Given the description of an element on the screen output the (x, y) to click on. 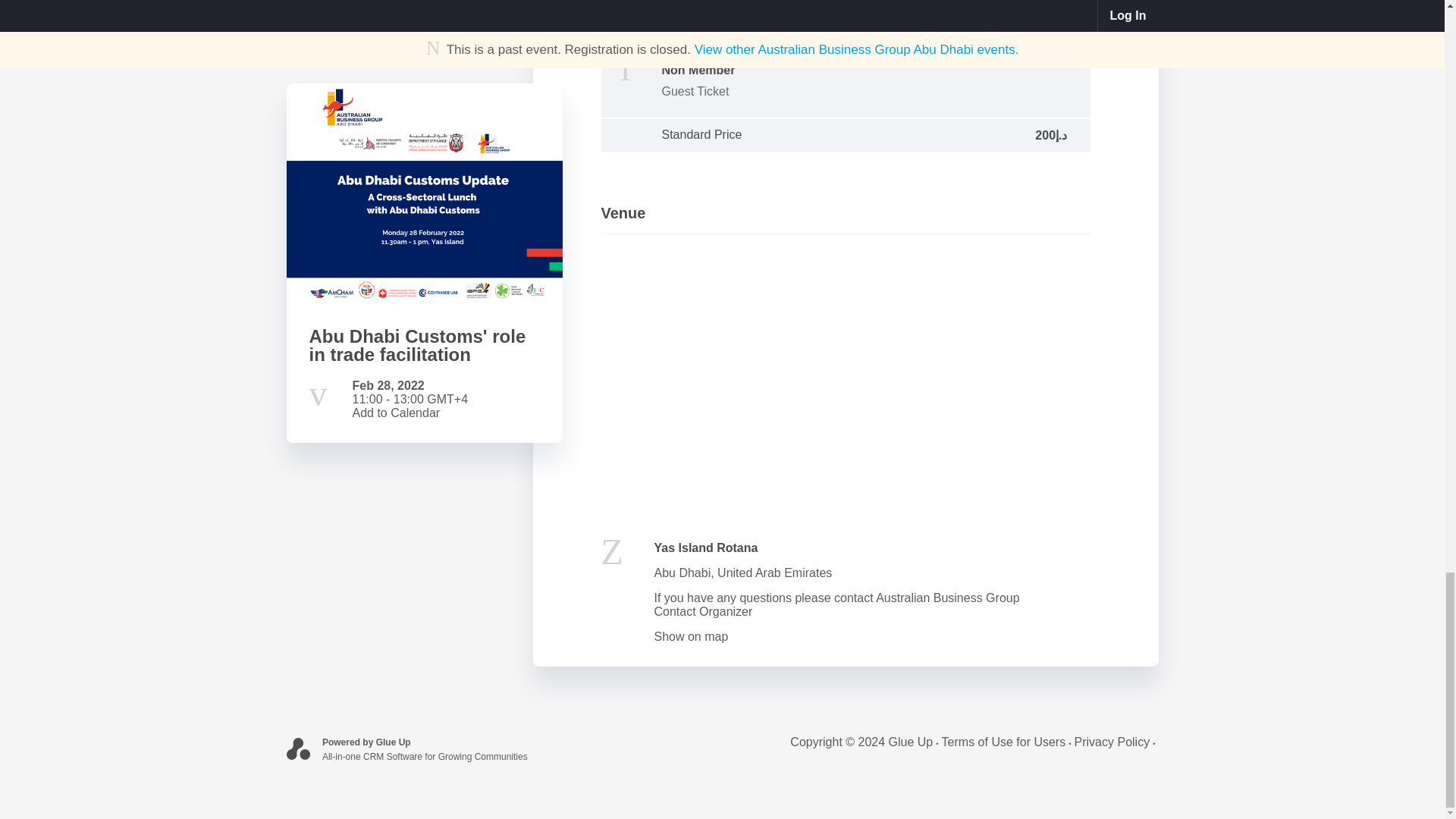
Show on map (690, 635)
Contact Organizer (702, 611)
Terms of Use for Users (1008, 741)
Privacy Policy (1116, 741)
